Given the description of an element on the screen output the (x, y) to click on. 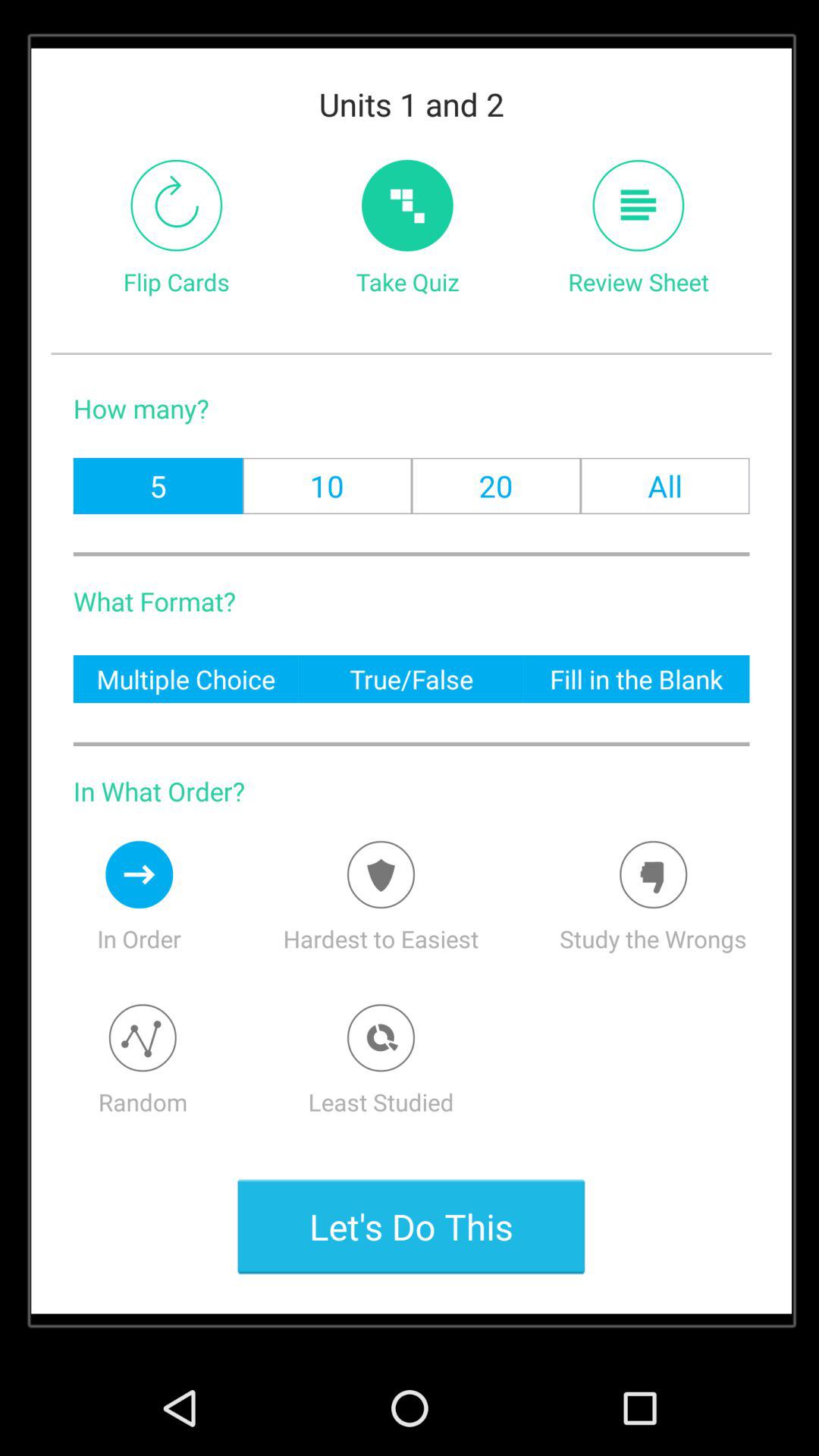
scroll to multiple choice (185, 678)
